Given the description of an element on the screen output the (x, y) to click on. 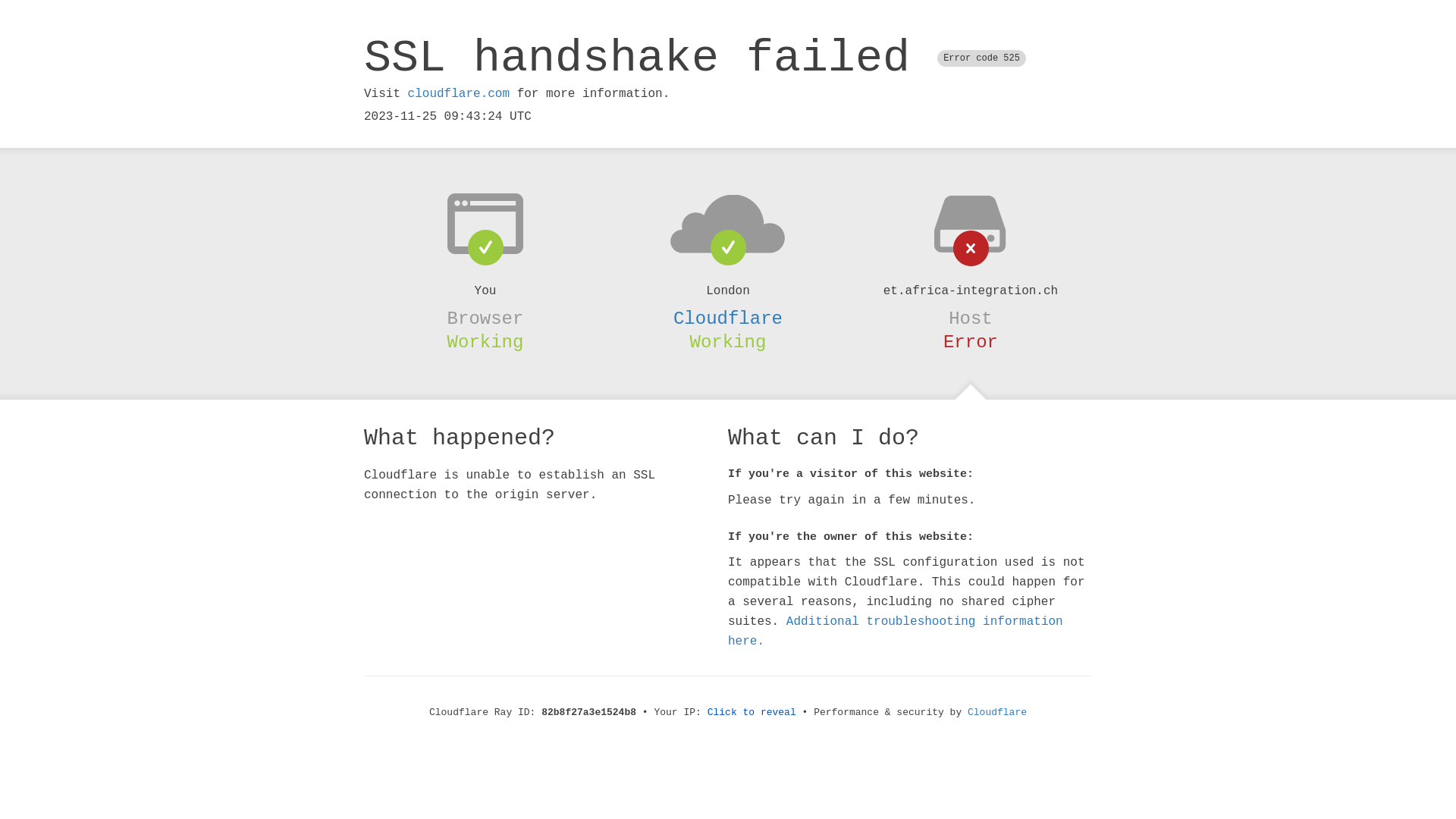
cloudflare.com Element type: text (458, 93)
Additional troubleshooting information here. Element type: text (895, 631)
Cloudflare Element type: text (727, 318)
Click to reveal Element type: text (751, 712)
Cloudflare Element type: text (996, 712)
